Given the description of an element on the screen output the (x, y) to click on. 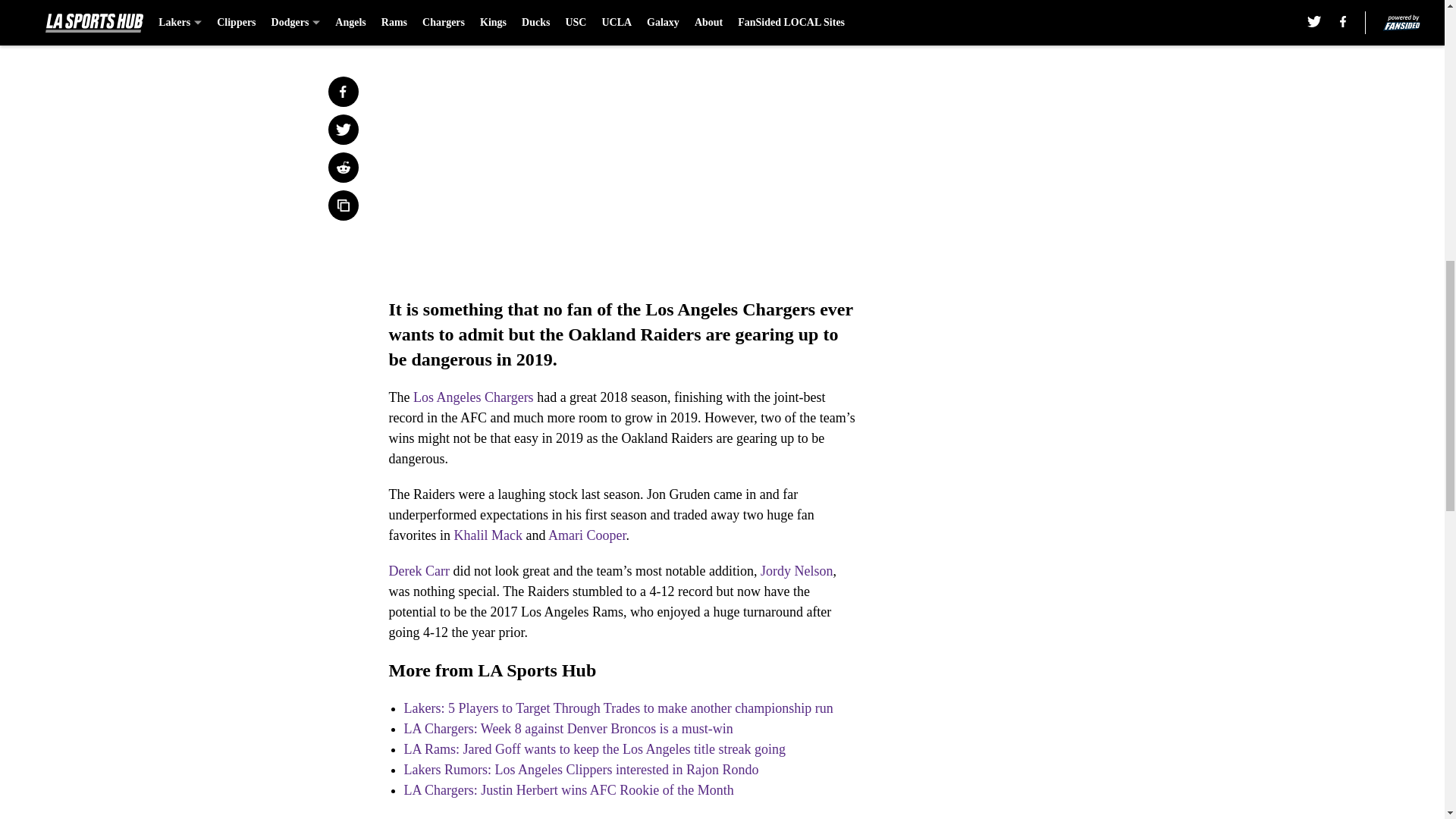
LA Chargers: Week 8 against Denver Broncos is a must-win (567, 728)
LA Chargers: Justin Herbert wins AFC Rookie of the Month (568, 789)
Los Angeles Chargers (473, 396)
Jordy Nelson (796, 570)
Amari Cooper (587, 534)
Khalil Mack (486, 534)
Derek Carr (418, 570)
